Given the description of an element on the screen output the (x, y) to click on. 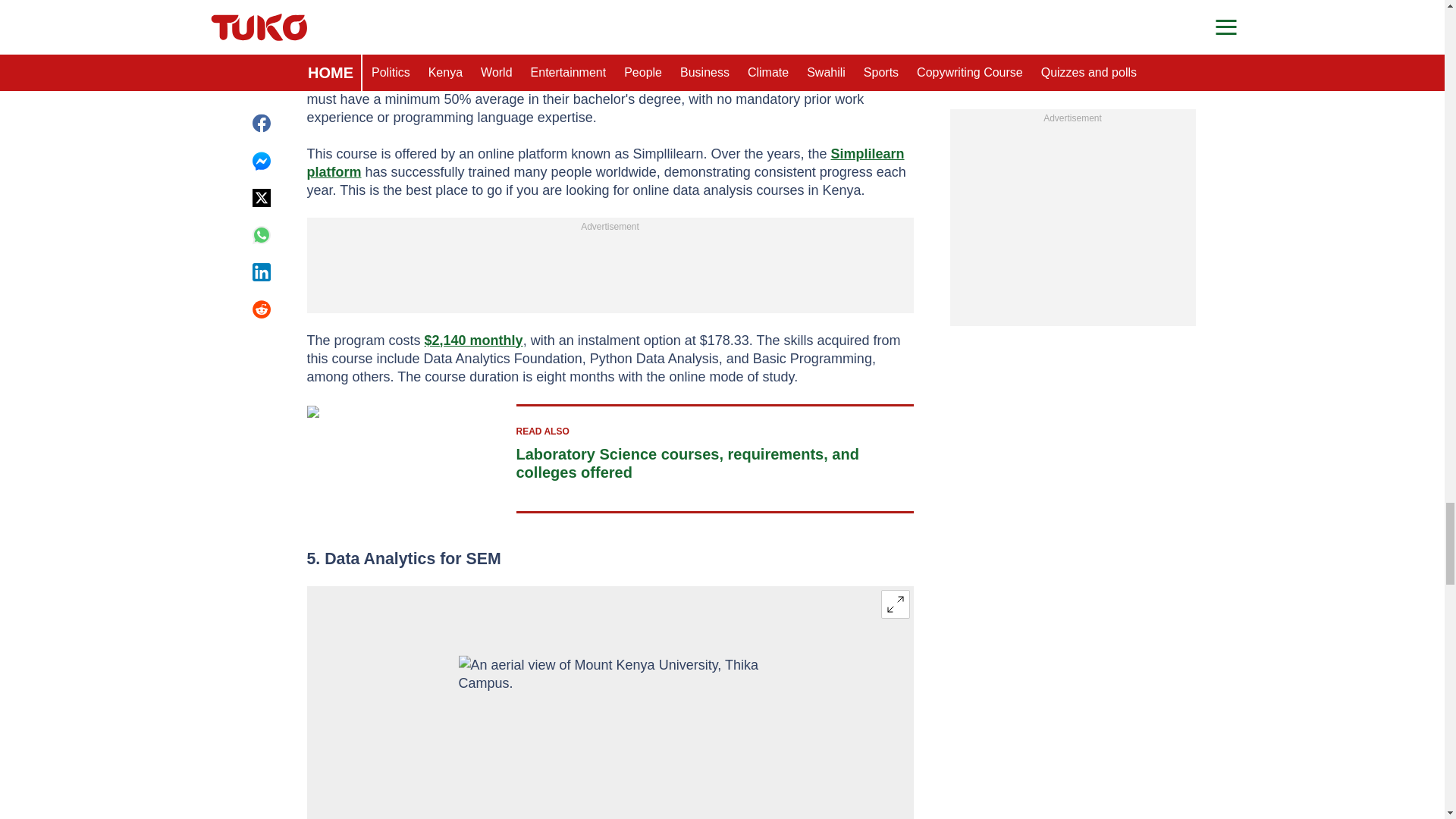
An aerial view of Mount Kenya University, Thika Campus. (609, 737)
Expand image (895, 604)
